Given the description of an element on the screen output the (x, y) to click on. 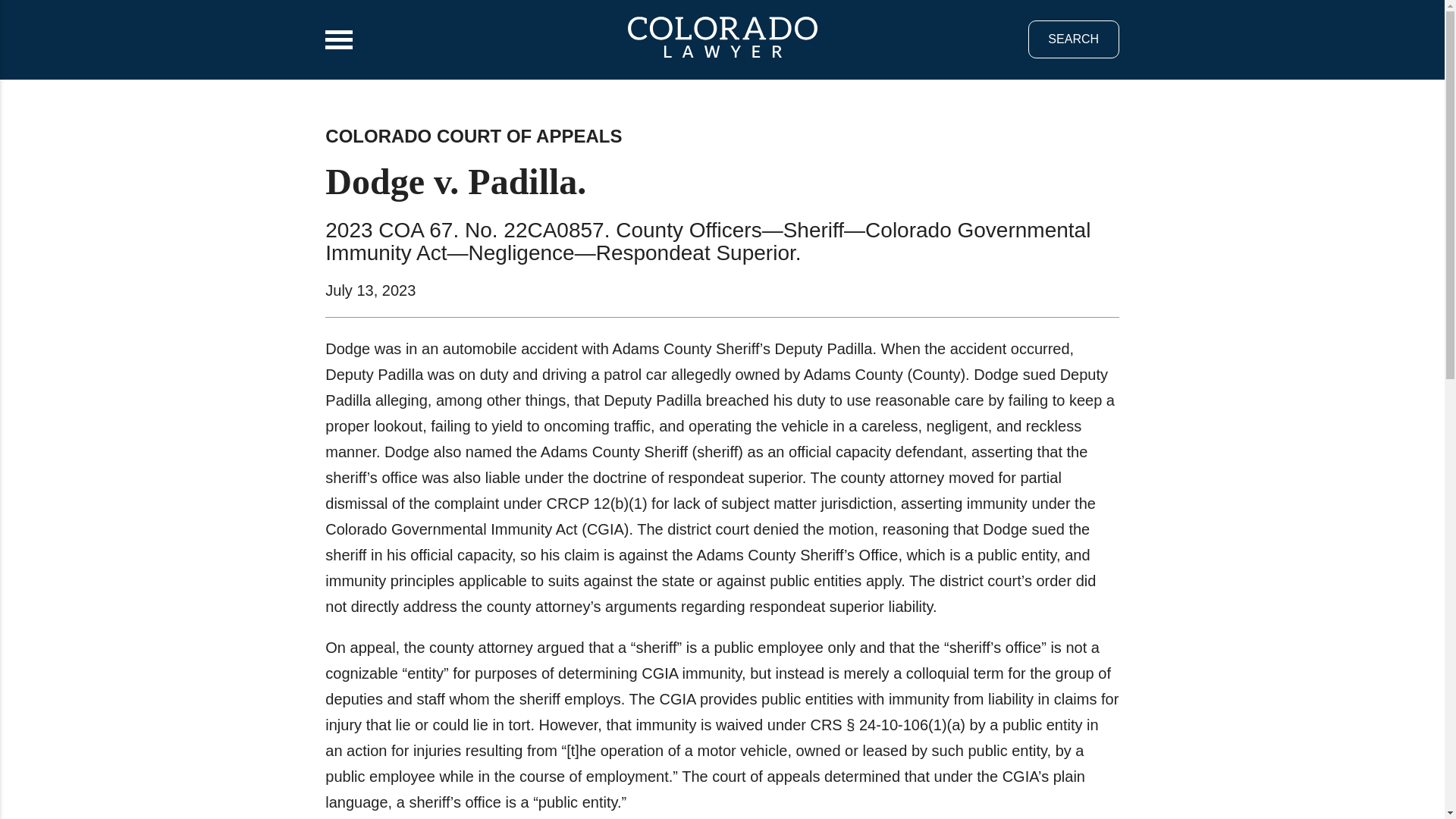
SEARCH (1073, 39)
COLORADO COURT OF APPEALS (472, 136)
